Given the description of an element on the screen output the (x, y) to click on. 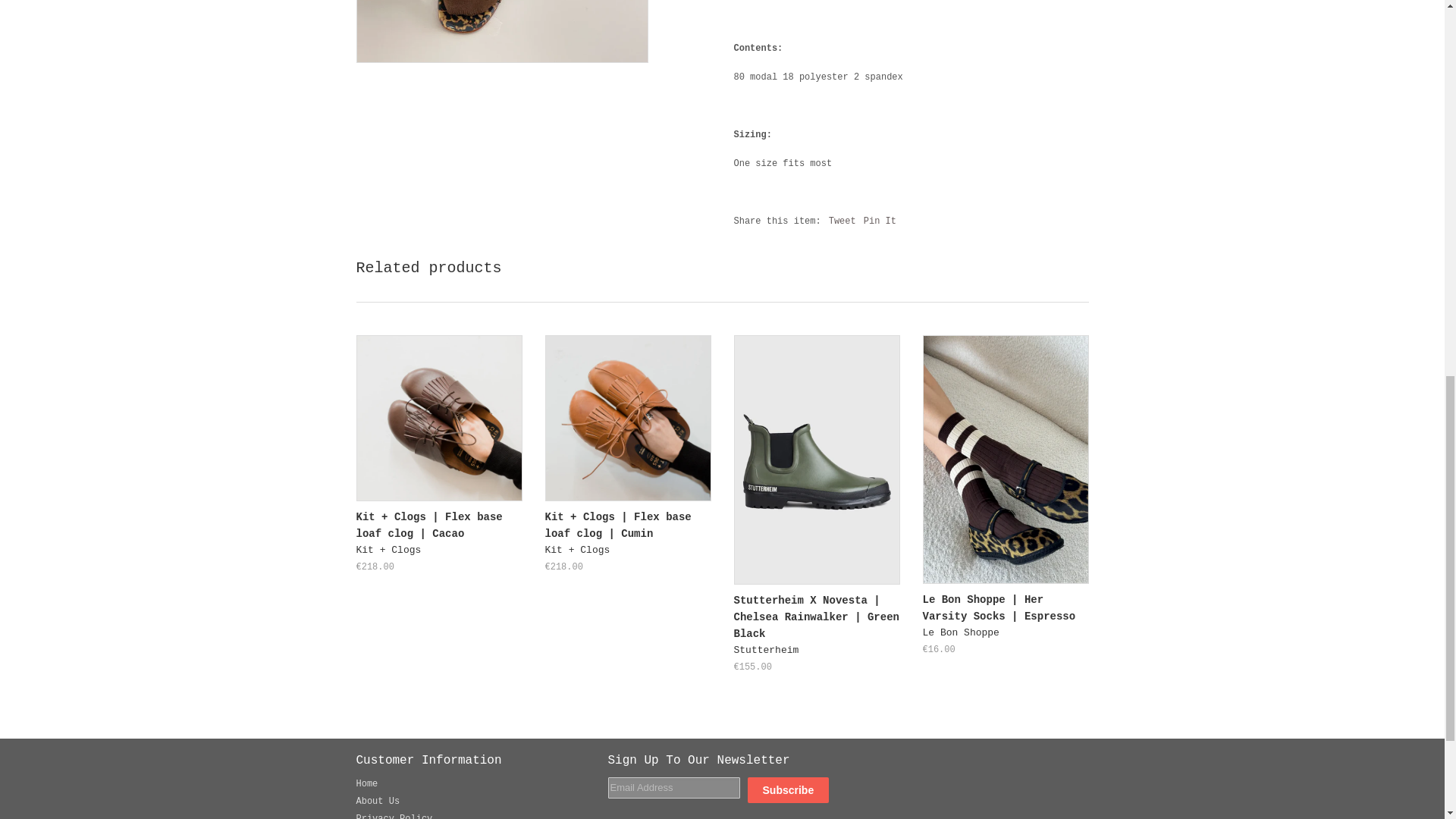
About  Us (378, 801)
Home (367, 783)
Tweet (842, 221)
Privacy Policy (394, 816)
Pin It (879, 221)
Subscribe (788, 790)
